Given the description of an element on the screen output the (x, y) to click on. 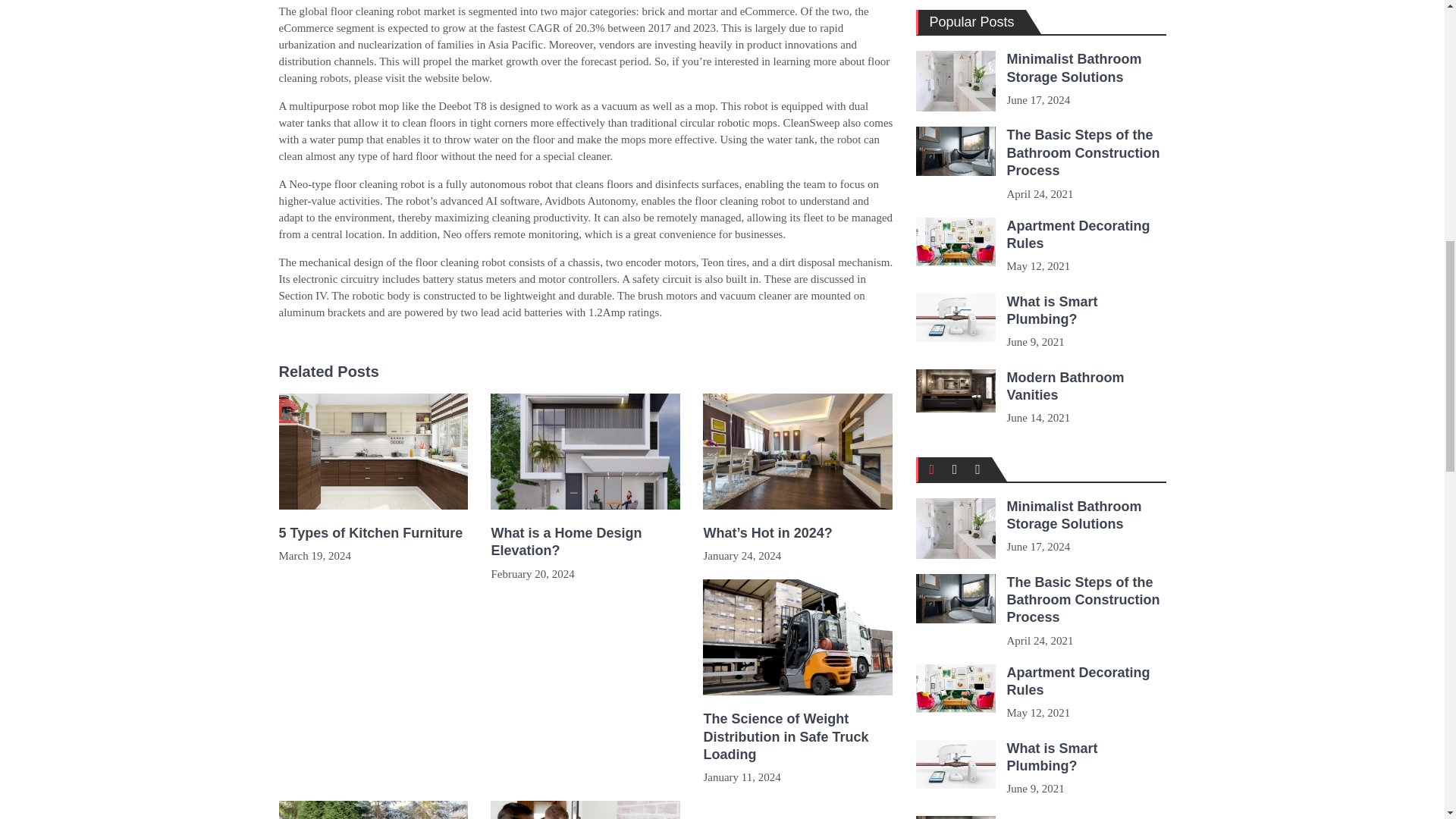
The Science of Weight Distribution in Safe Truck Loading (797, 736)
What is a Home Design Elevation? (584, 542)
5 Types of Kitchen Furniture (373, 533)
